Given the description of an element on the screen output the (x, y) to click on. 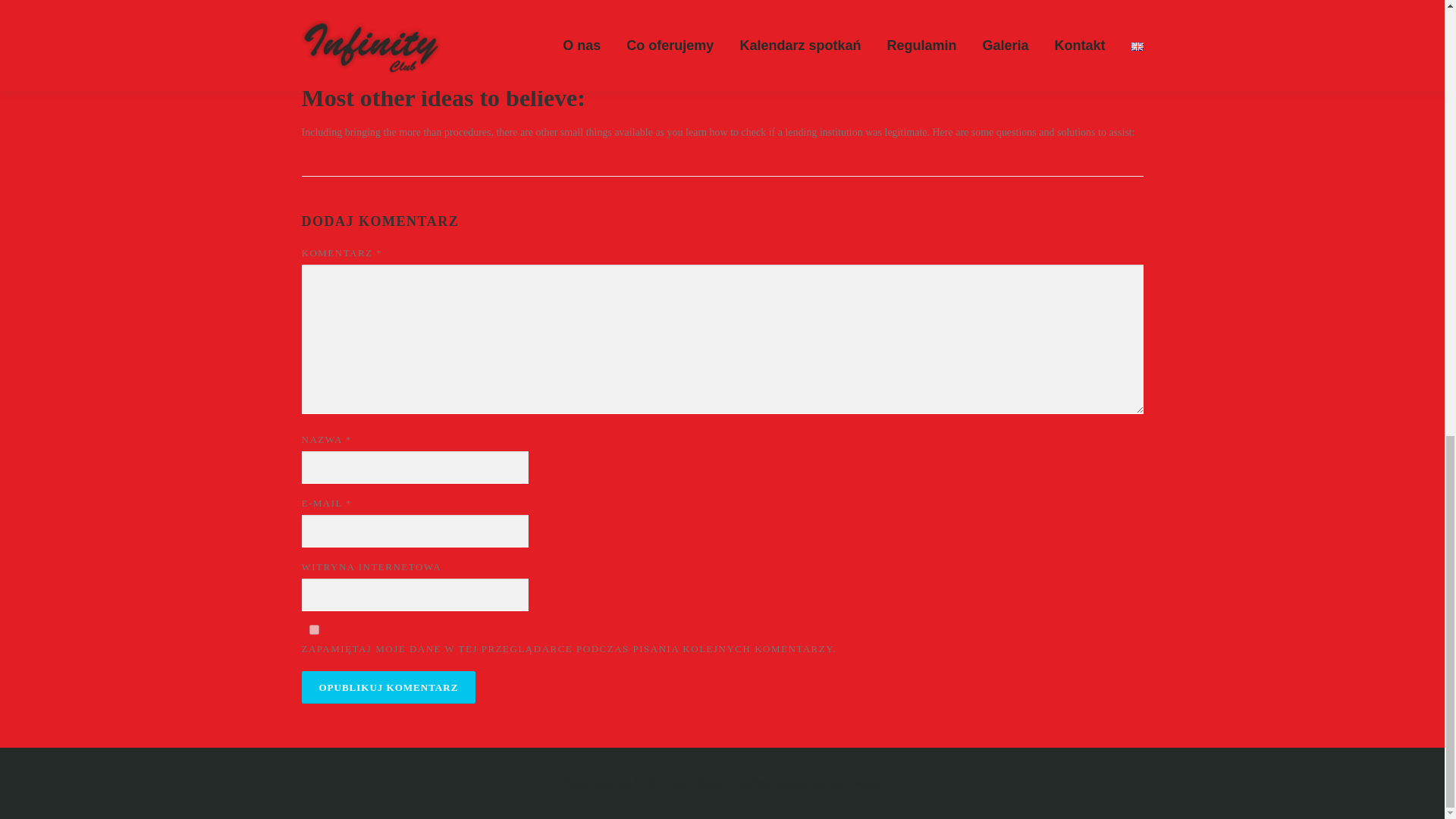
yes (313, 629)
Opublikuj komentarz (388, 686)
OnePress (753, 782)
Opublikuj komentarz (388, 686)
